Given the description of an element on the screen output the (x, y) to click on. 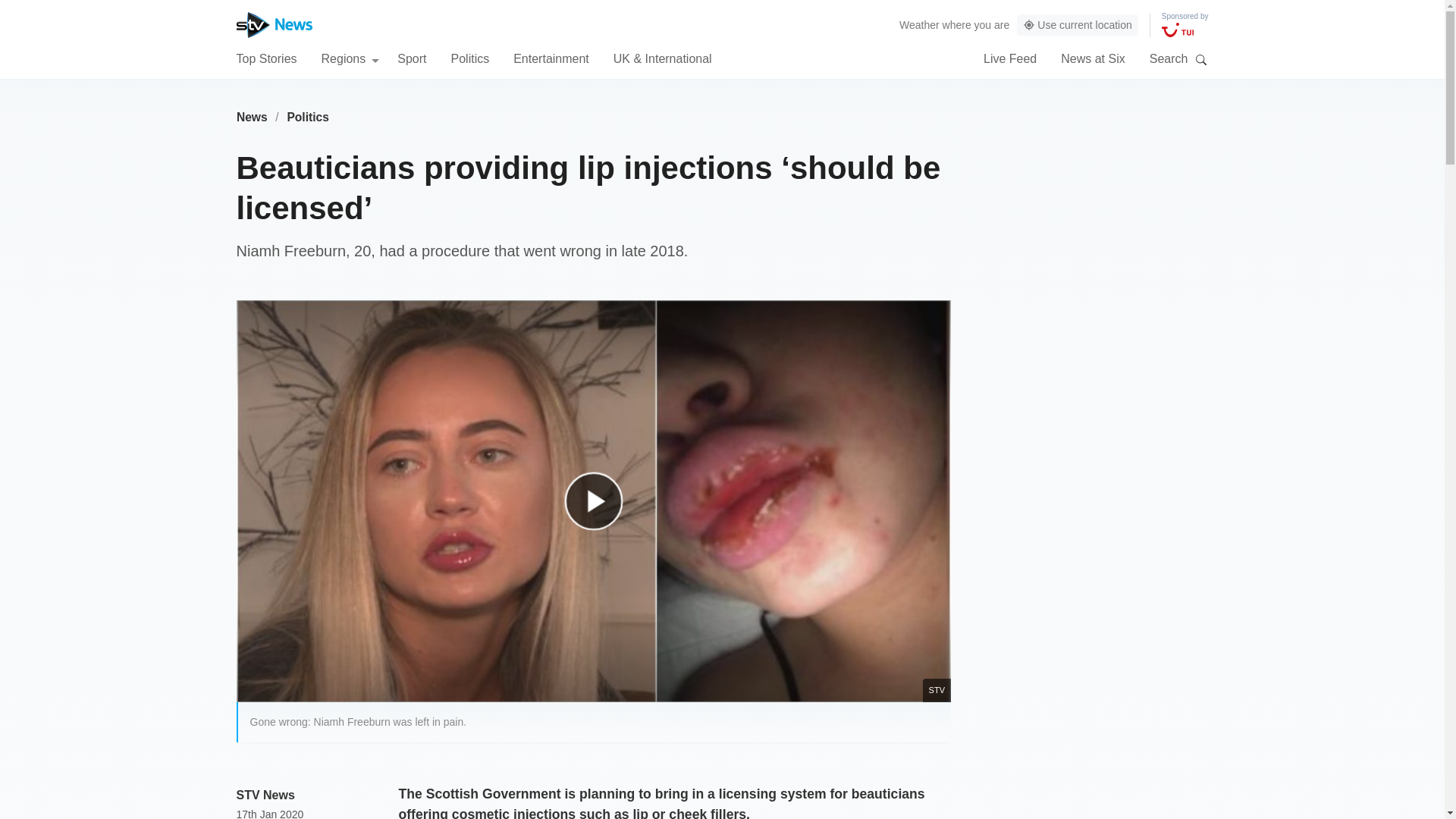
Weather (919, 24)
News (252, 116)
Regions (350, 57)
News at Six (1092, 57)
Entertainment (551, 57)
Play Video (600, 507)
Top Stories (266, 57)
Search (1201, 59)
Live Feed (1010, 57)
Use current location (1077, 25)
Politics (469, 57)
Politics (307, 116)
